Given the description of an element on the screen output the (x, y) to click on. 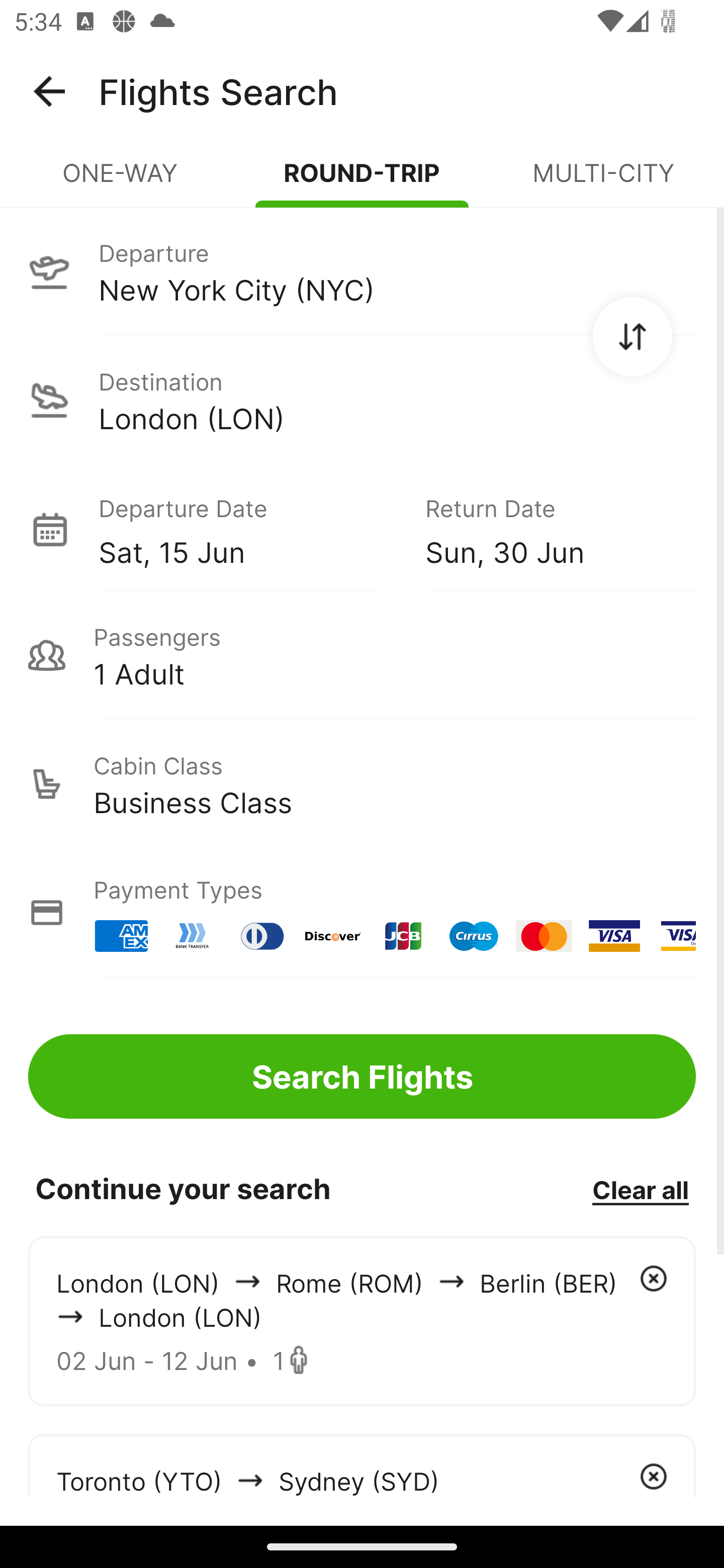
ONE-WAY (120, 180)
ROUND-TRIP (361, 180)
MULTI-CITY (603, 180)
Departure New York City (NYC) (362, 270)
Destination London (LON) (362, 400)
Departure Date Sat, 15 Jun (247, 528)
Return Date Sun, 30 Jun (546, 528)
Passengers 1 Adult (362, 655)
Cabin Class Business Class (362, 783)
Payment Types (362, 912)
Search Flights (361, 1075)
Clear all (640, 1189)
Toronto (YTO)  arrowIcon  Sydney (SYD) (361, 1465)
